Given the description of an element on the screen output the (x, y) to click on. 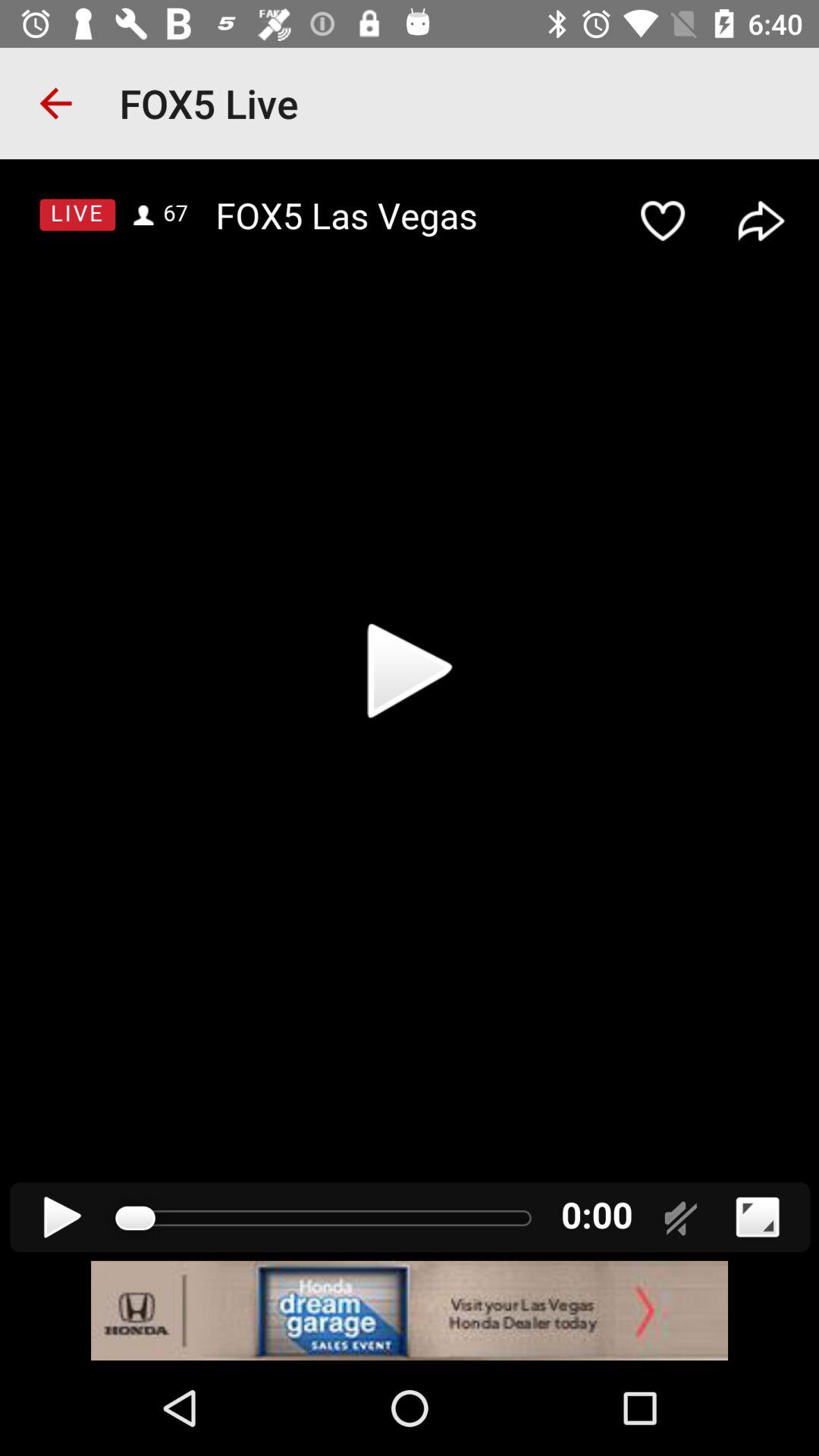
advertisement (409, 1310)
